Given the description of an element on the screen output the (x, y) to click on. 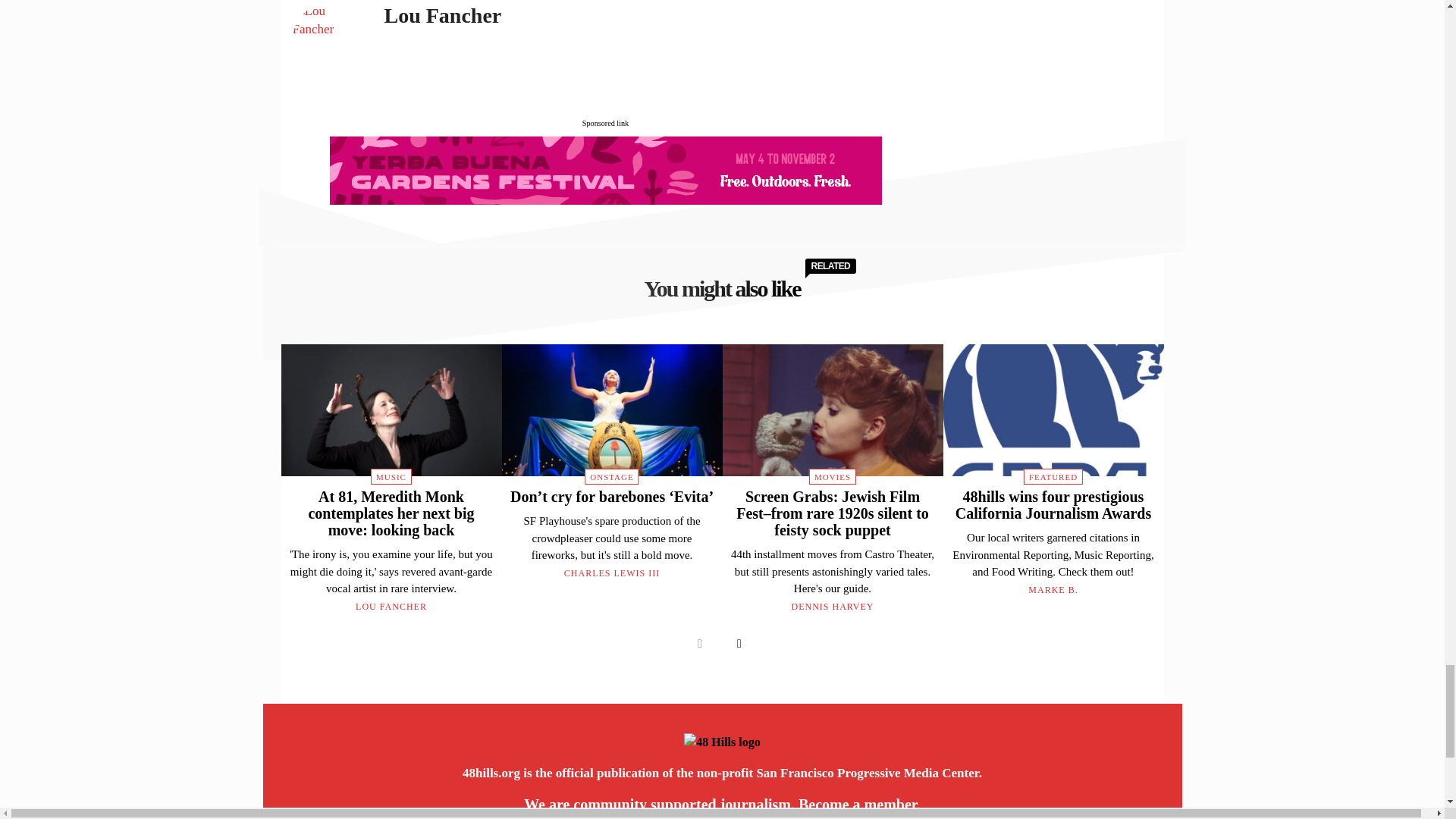
Lou Fancher (330, 39)
